Given the description of an element on the screen output the (x, y) to click on. 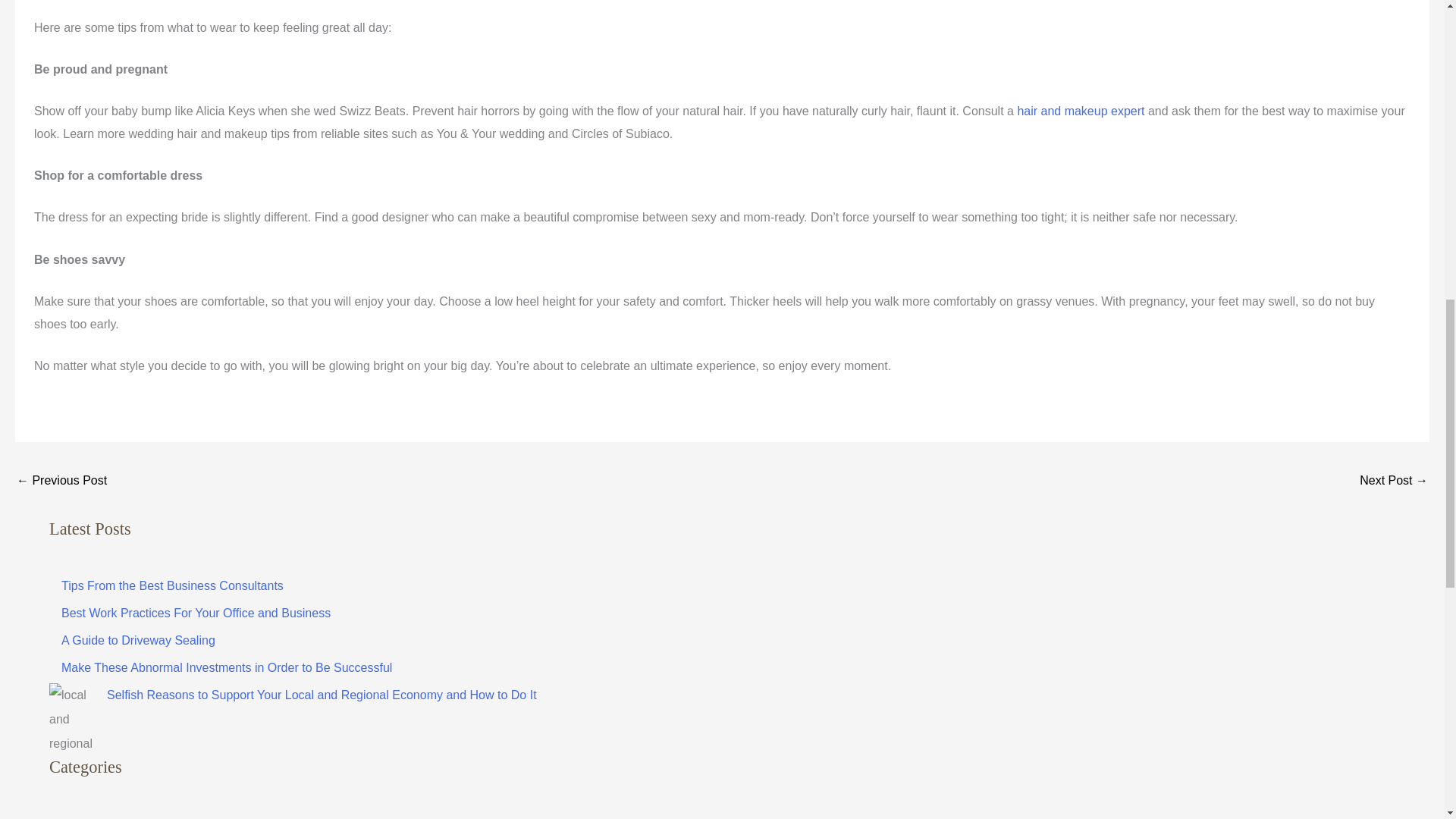
Make These Abnormal Investments in Order to Be Successful (226, 667)
Best Work Practices For Your Office and Business (195, 612)
A Guide to Driveway Sealing (138, 640)
Tips From the Best Business Consultants (172, 585)
hair and makeup expert (1080, 110)
Finance (71, 818)
